Given the description of an element on the screen output the (x, y) to click on. 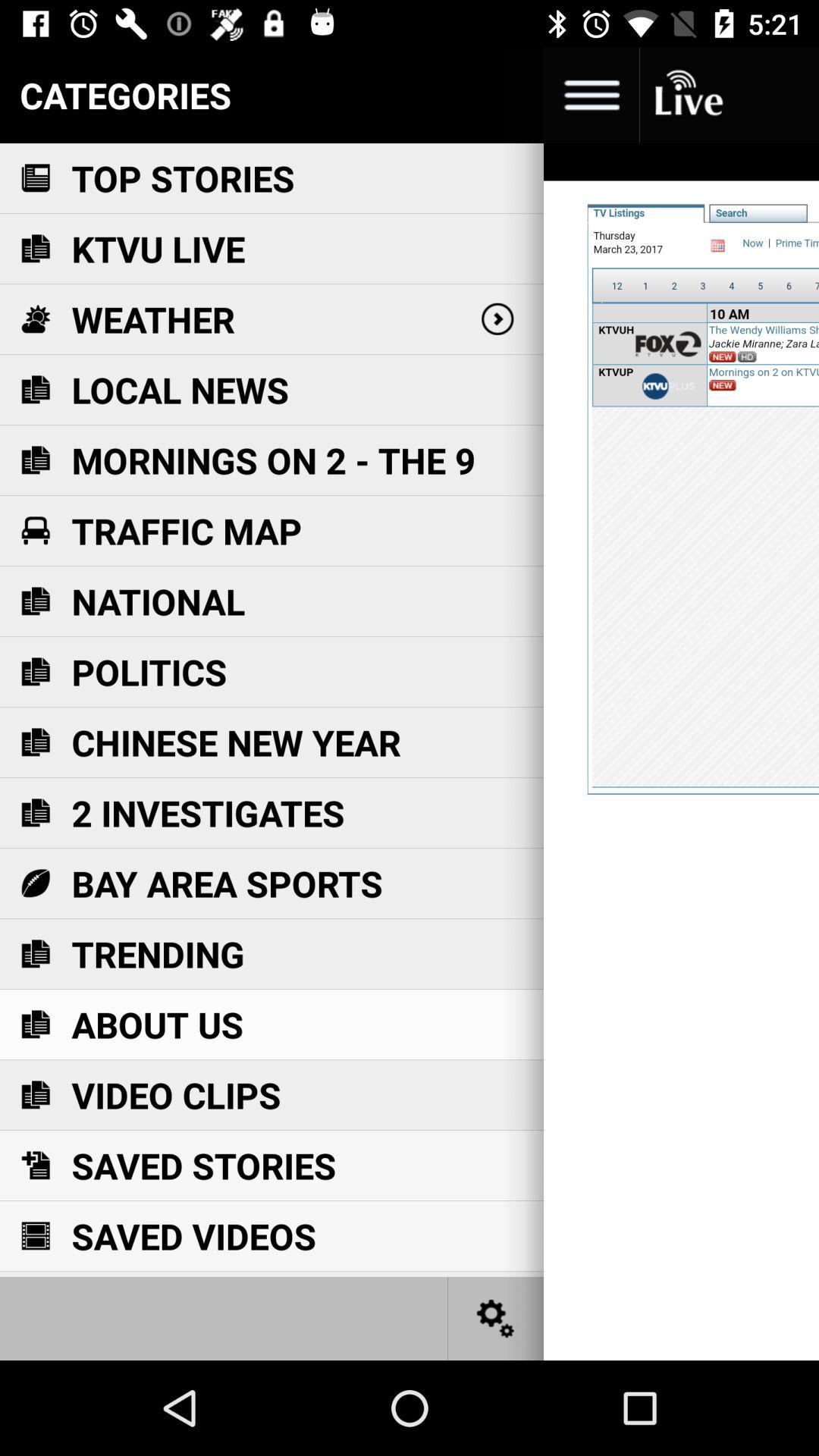
open men (591, 95)
